Given the description of an element on the screen output the (x, y) to click on. 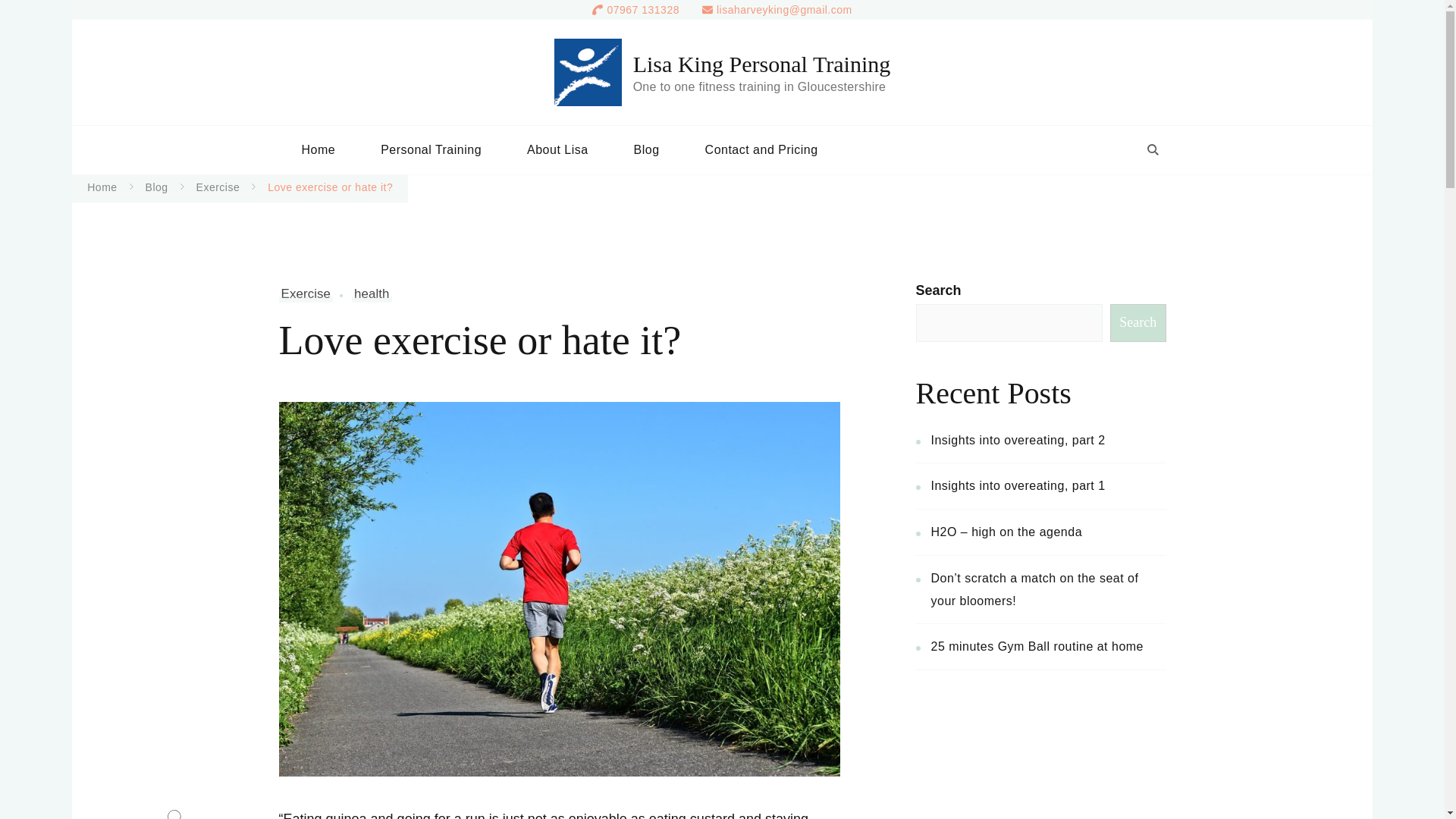
Home (318, 150)
health (371, 293)
Blog (156, 187)
Blog (646, 150)
Exercise (218, 187)
Love exercise or hate it? (330, 187)
About Lisa (557, 150)
Lisa King Personal Training (762, 64)
Personal Training (430, 150)
Contact and Pricing (761, 150)
